Given the description of an element on the screen output the (x, y) to click on. 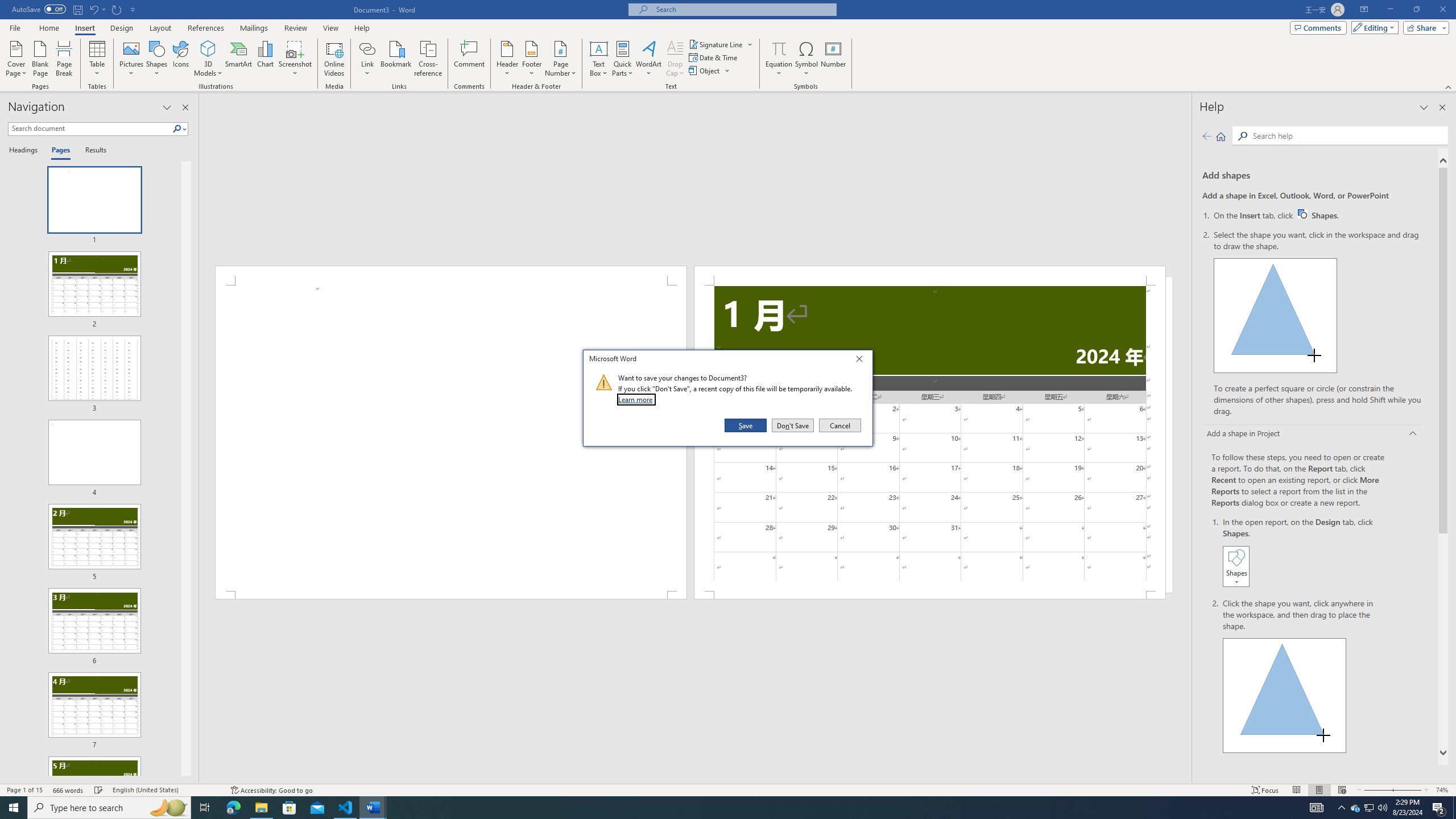
Cancel (839, 425)
Add a shape in Project (1312, 434)
Object... (709, 69)
Quick Parts (622, 58)
Word W32 Shapes button icon (1302, 213)
Symbol (806, 58)
Microsoft Edge (233, 807)
Table (97, 58)
Screenshot (295, 58)
Pictures (131, 58)
Link (367, 48)
Object... (705, 69)
